Given the description of an element on the screen output the (x, y) to click on. 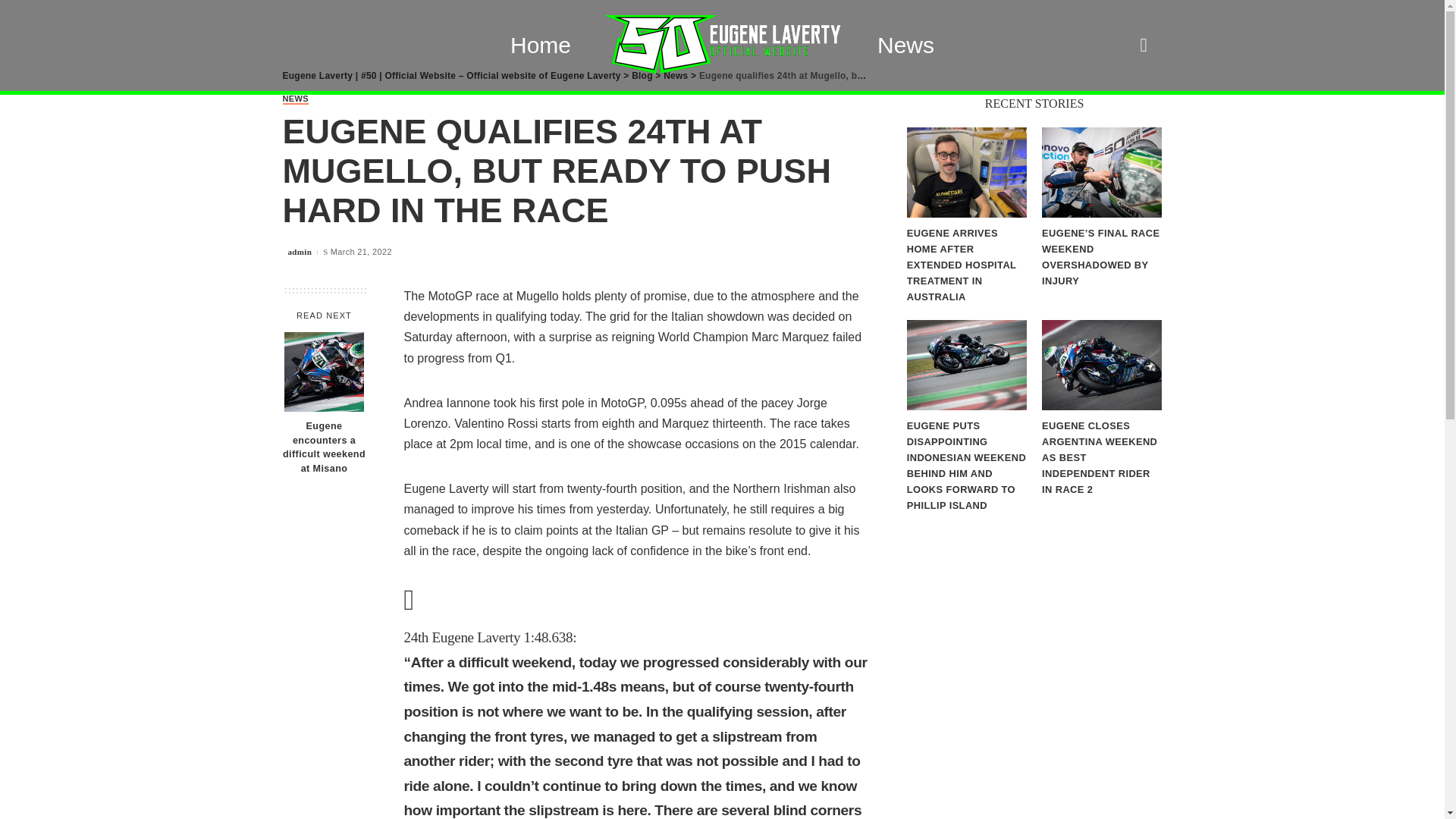
NEWS (294, 99)
Home (540, 45)
Eugene encounters a difficult weekend at Misano (323, 447)
Blog (641, 75)
Go to the News Category archives. (675, 75)
admin (300, 251)
Search (1126, 92)
News (675, 75)
News (905, 45)
Go to Blog. (641, 75)
